Given the description of an element on the screen output the (x, y) to click on. 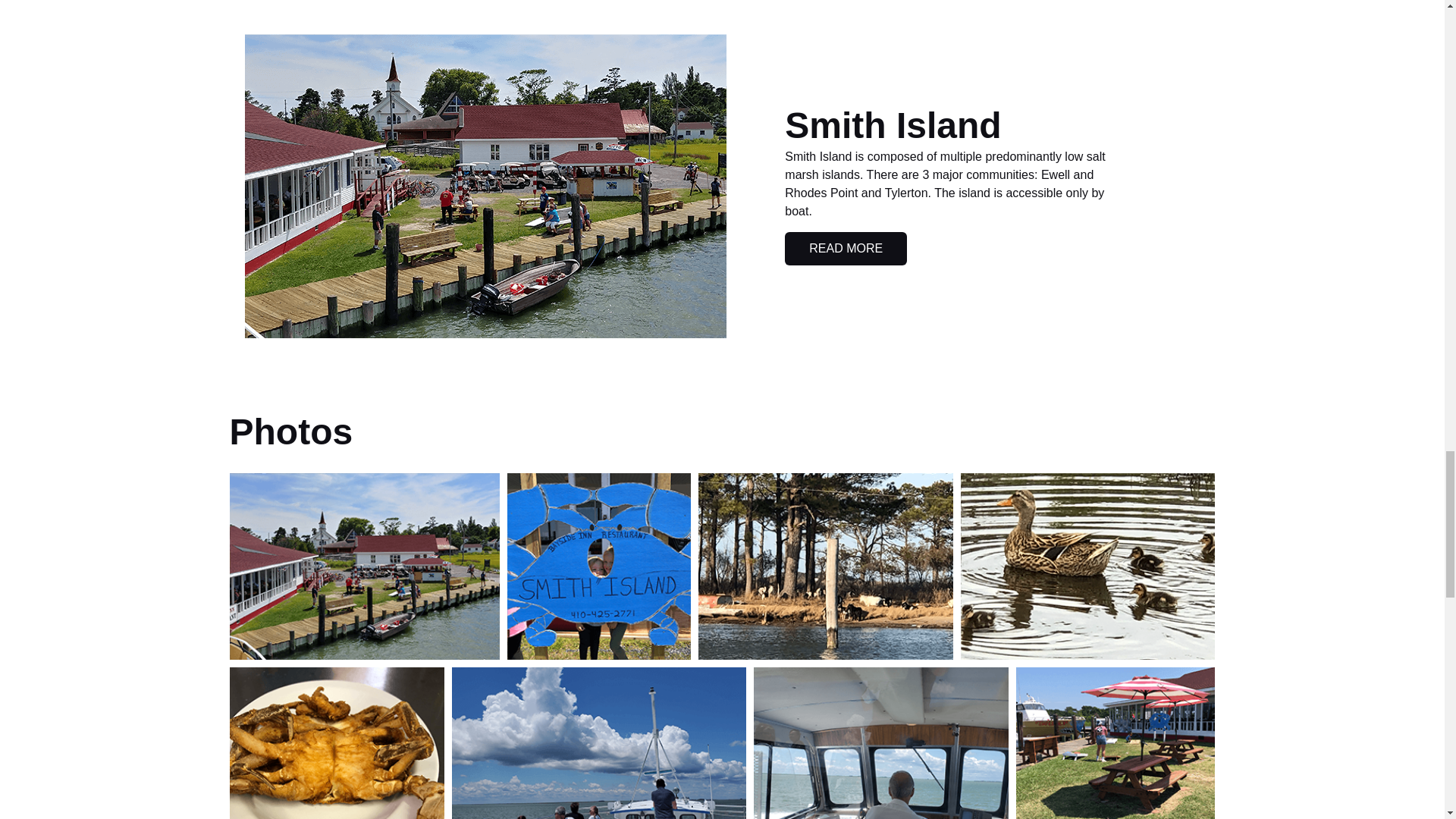
READ MORE (845, 248)
